Given the description of an element on the screen output the (x, y) to click on. 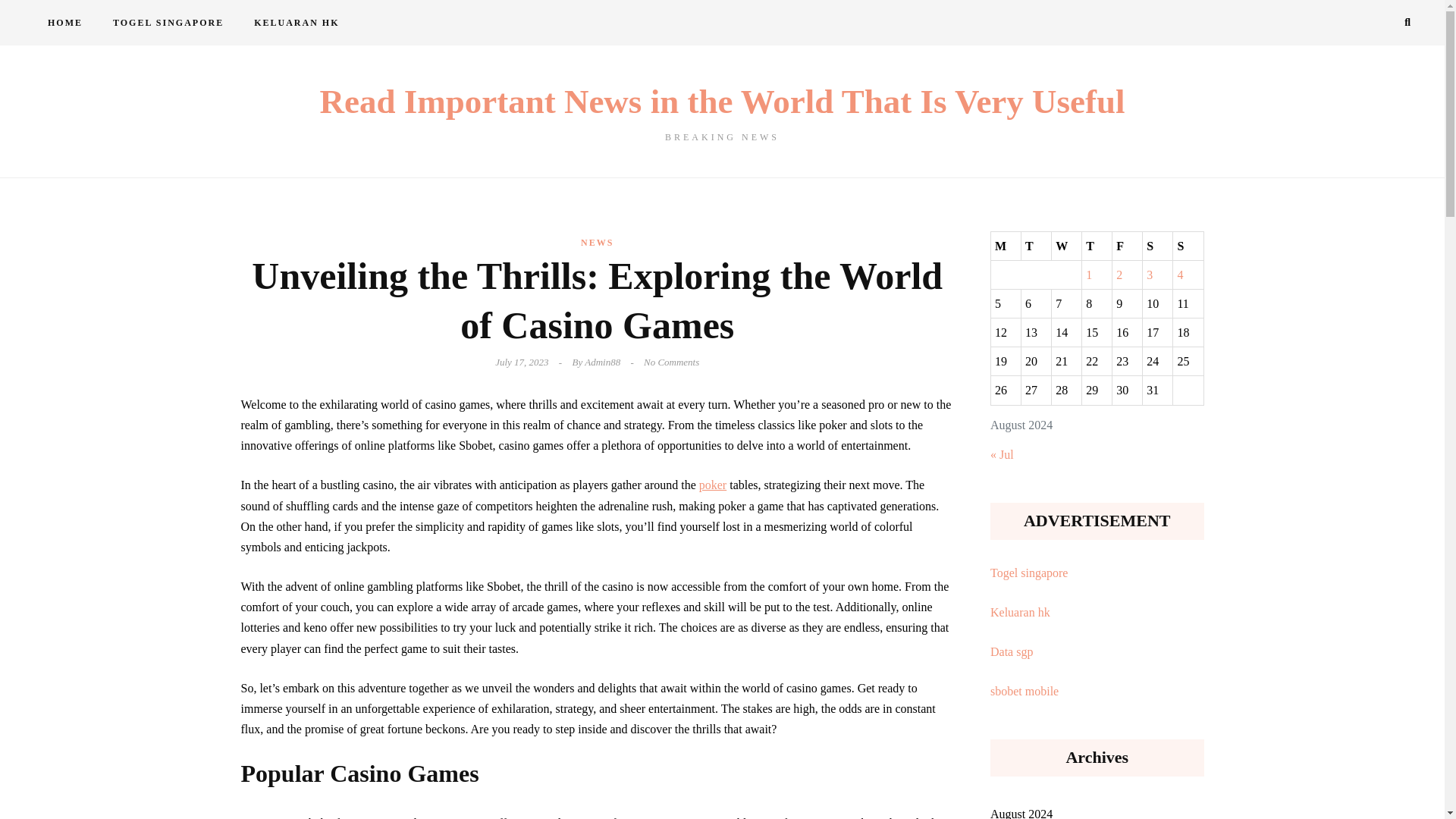
poker (712, 484)
Monday (1005, 245)
sbobet mobile (1024, 690)
Friday (1127, 245)
Wednesday (1066, 245)
Data sgp (1011, 651)
Keluaran hk (1019, 612)
Thursday (1096, 245)
KELUARAN HK (296, 22)
